Given the description of an element on the screen output the (x, y) to click on. 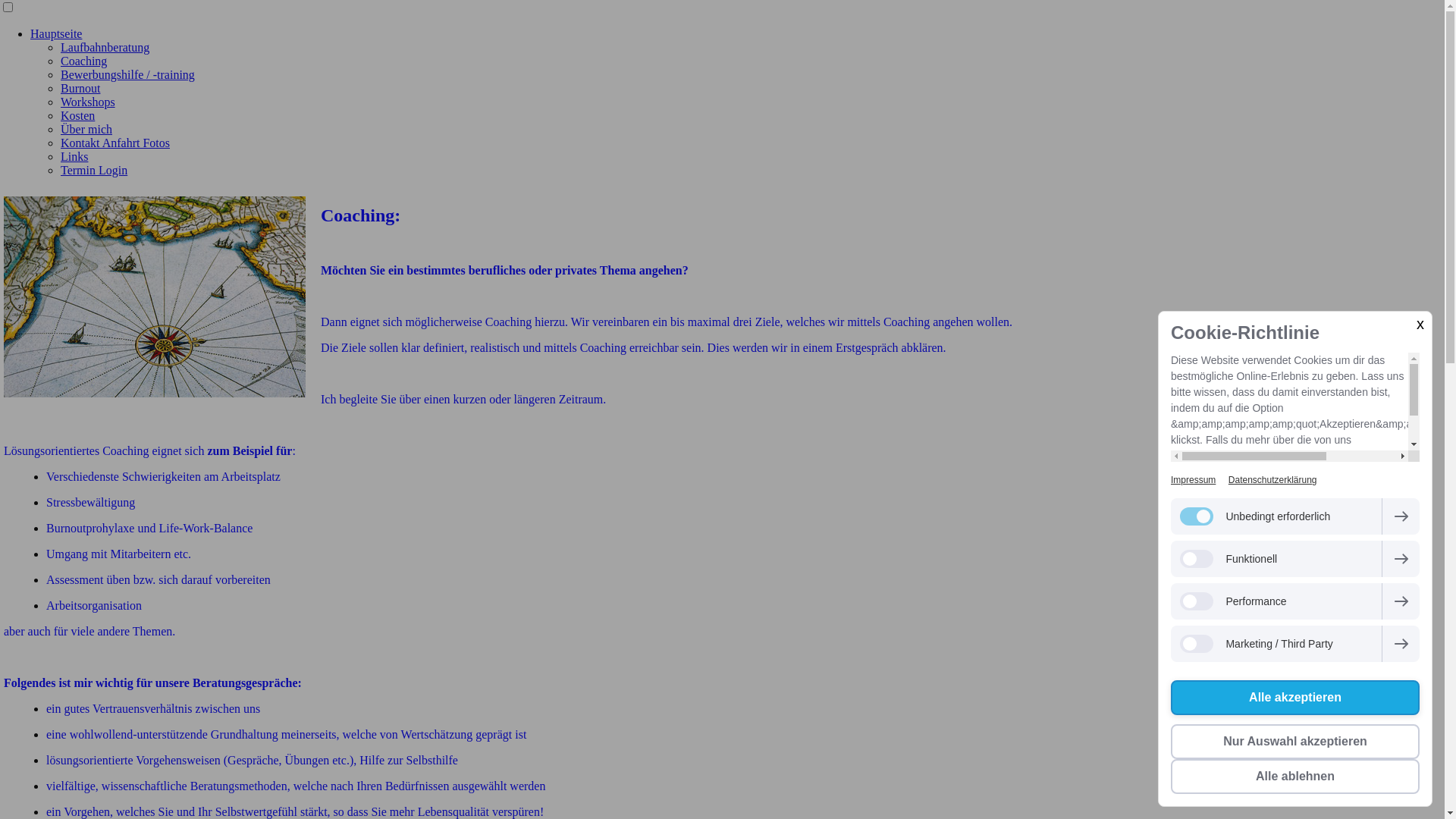
Kontakt Anfahrt Fotos Element type: text (114, 142)
Kosten Element type: text (77, 115)
Impressum Element type: text (1192, 479)
Workshops Element type: text (87, 101)
Burnout Element type: text (80, 87)
Termin Login Element type: text (93, 169)
Laufbahnberatung Element type: text (104, 46)
Nur Auswahl akzeptieren Element type: text (1294, 741)
Hauptseite Element type: text (55, 33)
Coaching Element type: text (83, 60)
Alle ablehnen Element type: text (1294, 776)
Bewerbungshilfe / -training Element type: text (127, 74)
Links Element type: text (73, 156)
Alle akzeptieren Element type: text (1294, 697)
